Given the description of an element on the screen output the (x, y) to click on. 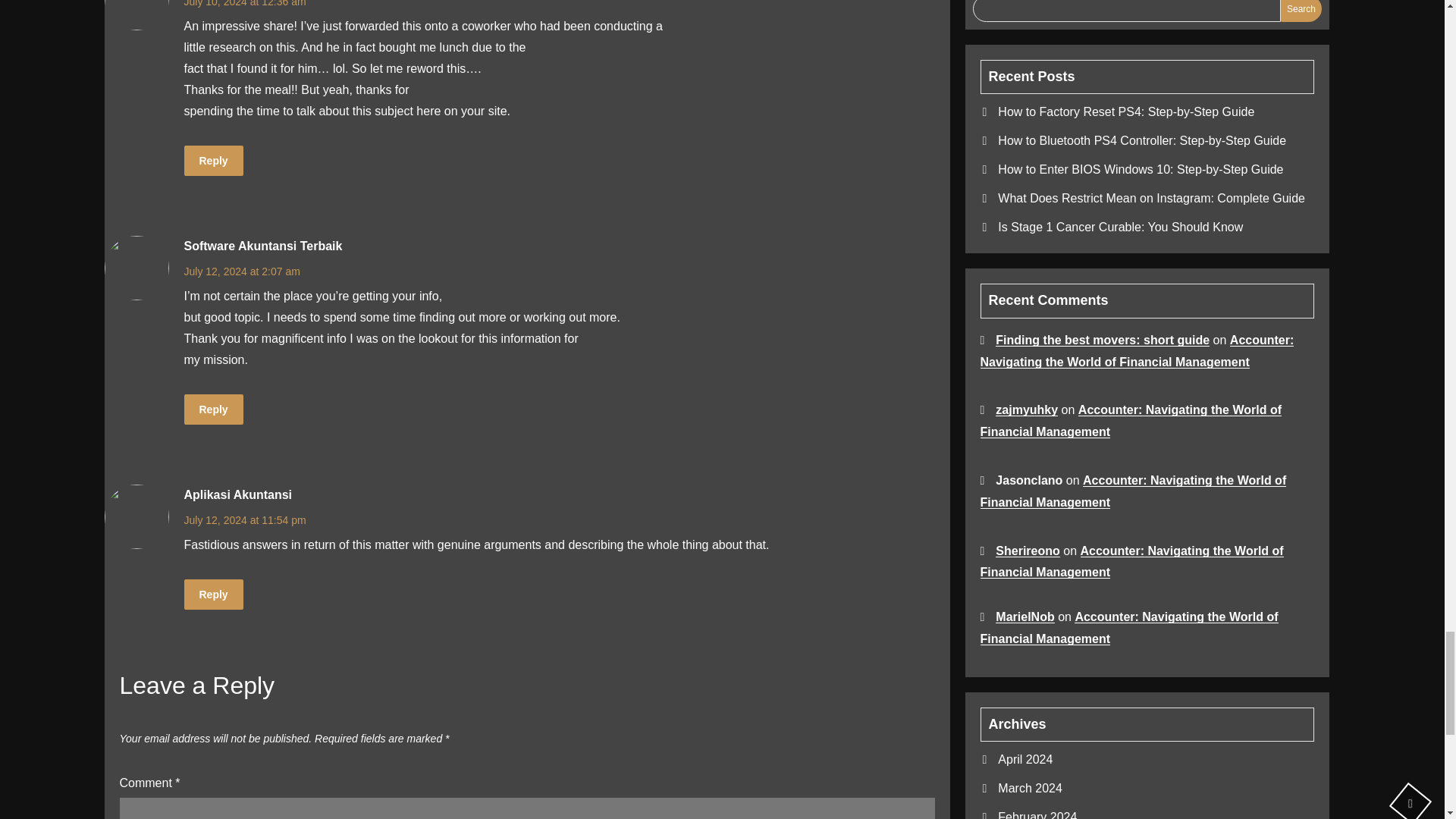
July 10, 2024 at 12:36 am (244, 3)
July 12, 2024 at 2:07 am (241, 271)
July 12, 2024 at 11:54 pm (244, 520)
Reply (213, 160)
Reply (213, 594)
Software Akuntansi Terbaik (262, 246)
Reply (213, 409)
Aplikasi Akuntansi (237, 495)
